Given the description of an element on the screen output the (x, y) to click on. 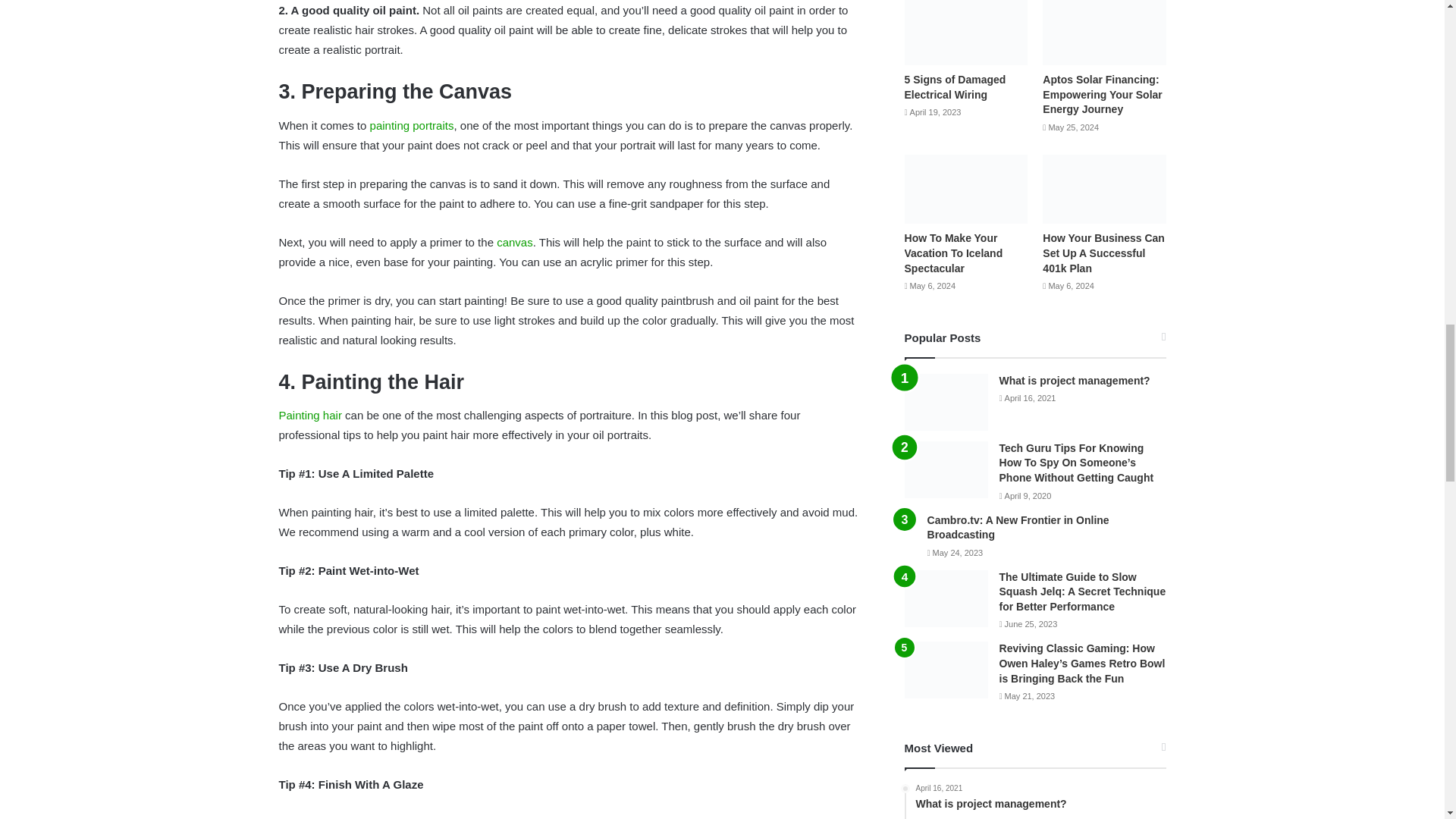
canvas (514, 241)
painting portraits (411, 124)
Painting hair (312, 414)
